Given the description of an element on the screen output the (x, y) to click on. 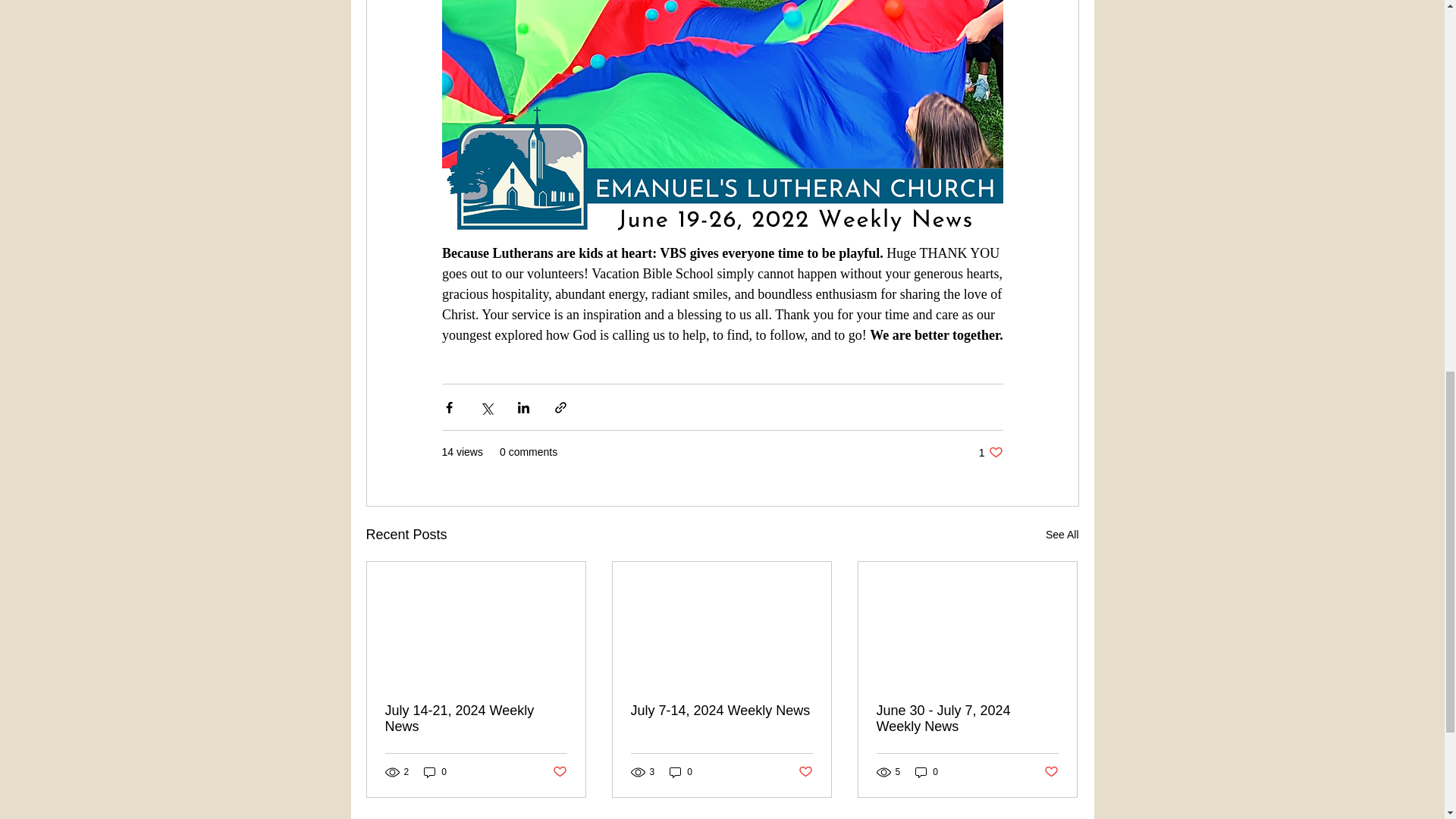
See All (1061, 535)
